Given the description of an element on the screen output the (x, y) to click on. 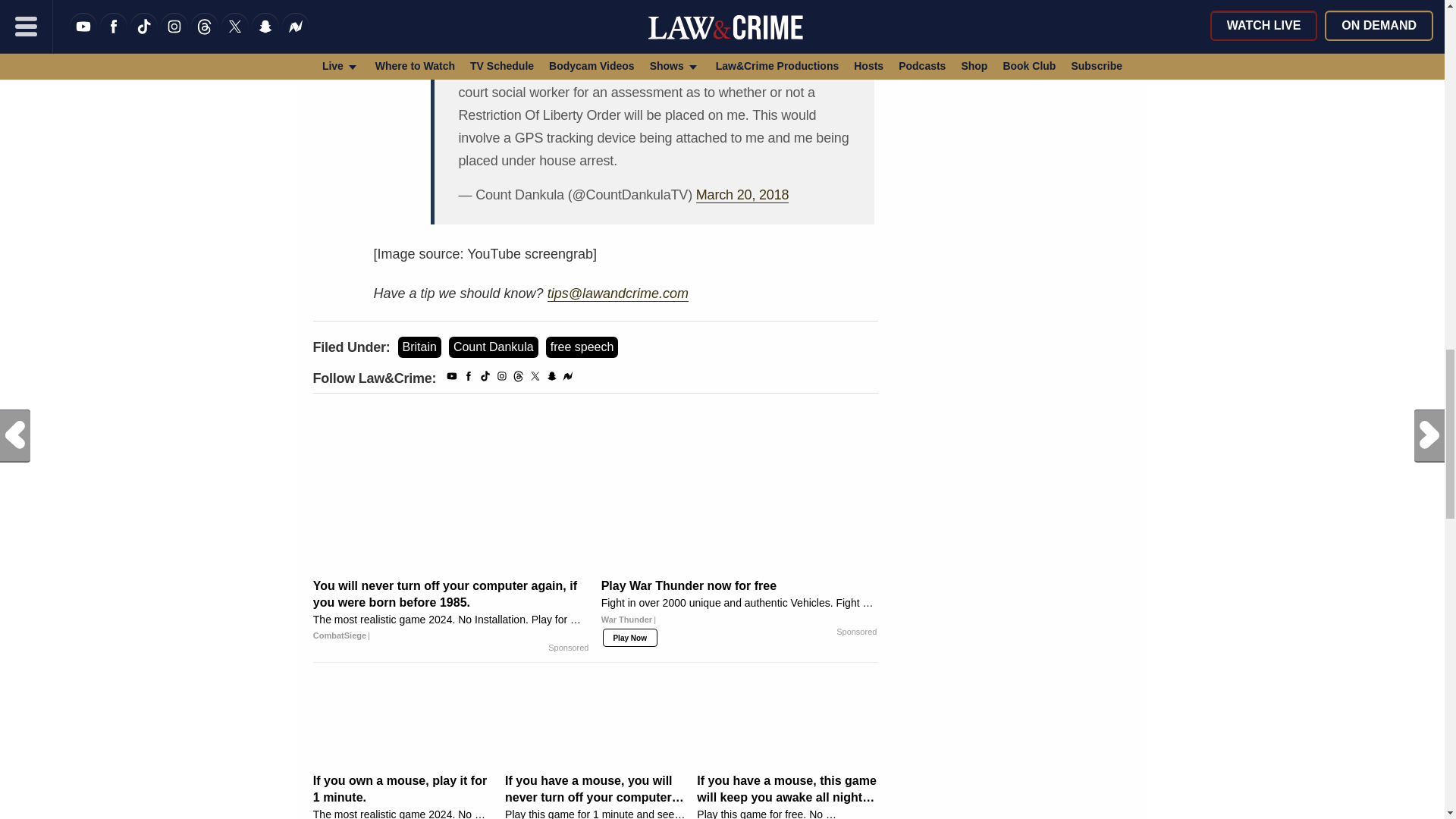
YouTube (451, 378)
